Given the description of an element on the screen output the (x, y) to click on. 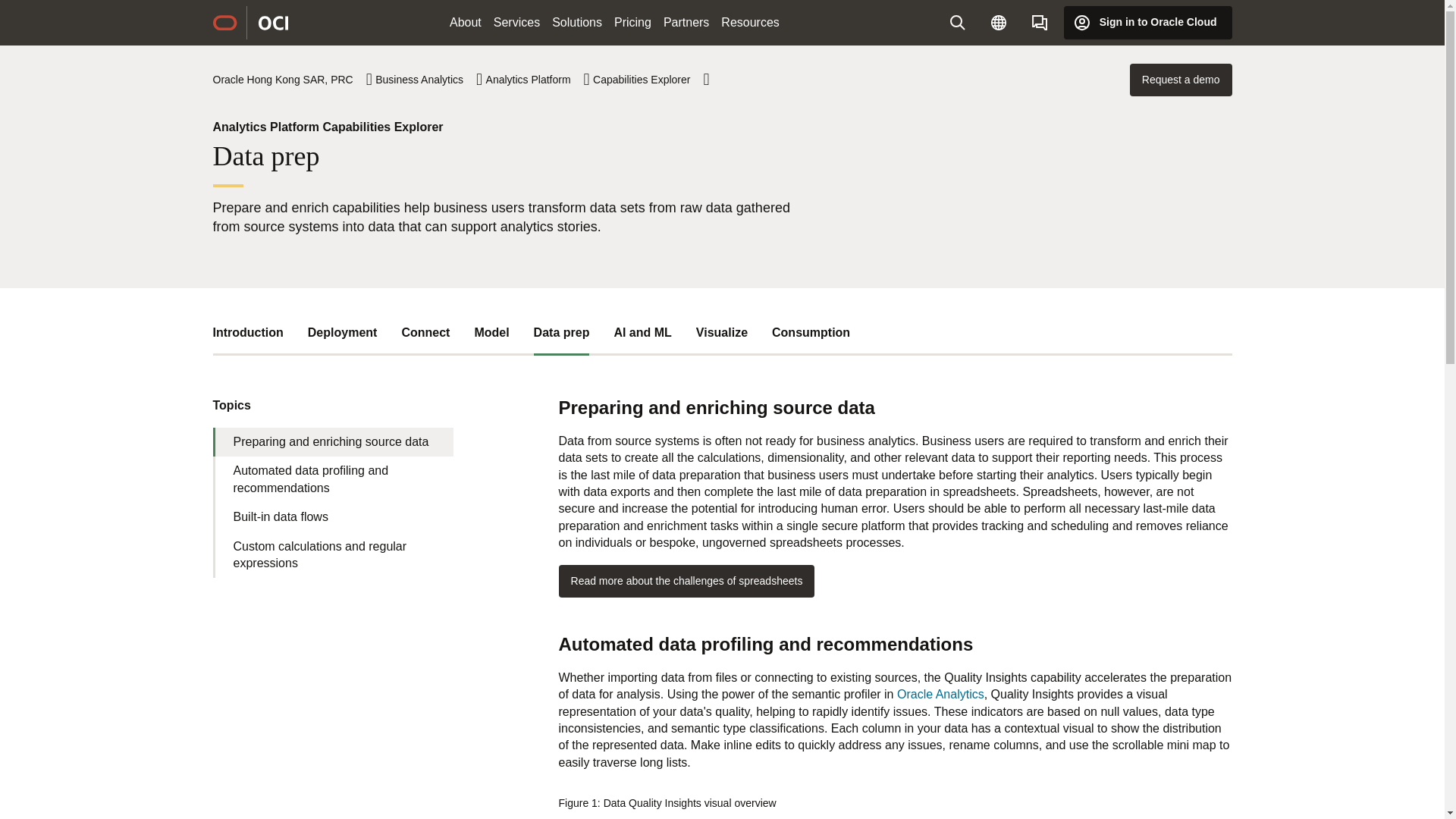
Pricing (633, 22)
Request a demo (1180, 79)
Business Analytics (428, 79)
Oracle Hong Kong SAR, PRC (291, 79)
Services (516, 22)
Country (997, 22)
AI and ML (641, 332)
Consumption (810, 332)
Introduction (247, 332)
Visualize (721, 332)
Connect (425, 332)
Sign in to Oracle Cloud (1147, 22)
Capabilities Explorer (650, 79)
About (465, 22)
Contact (1040, 22)
